Given the description of an element on the screen output the (x, y) to click on. 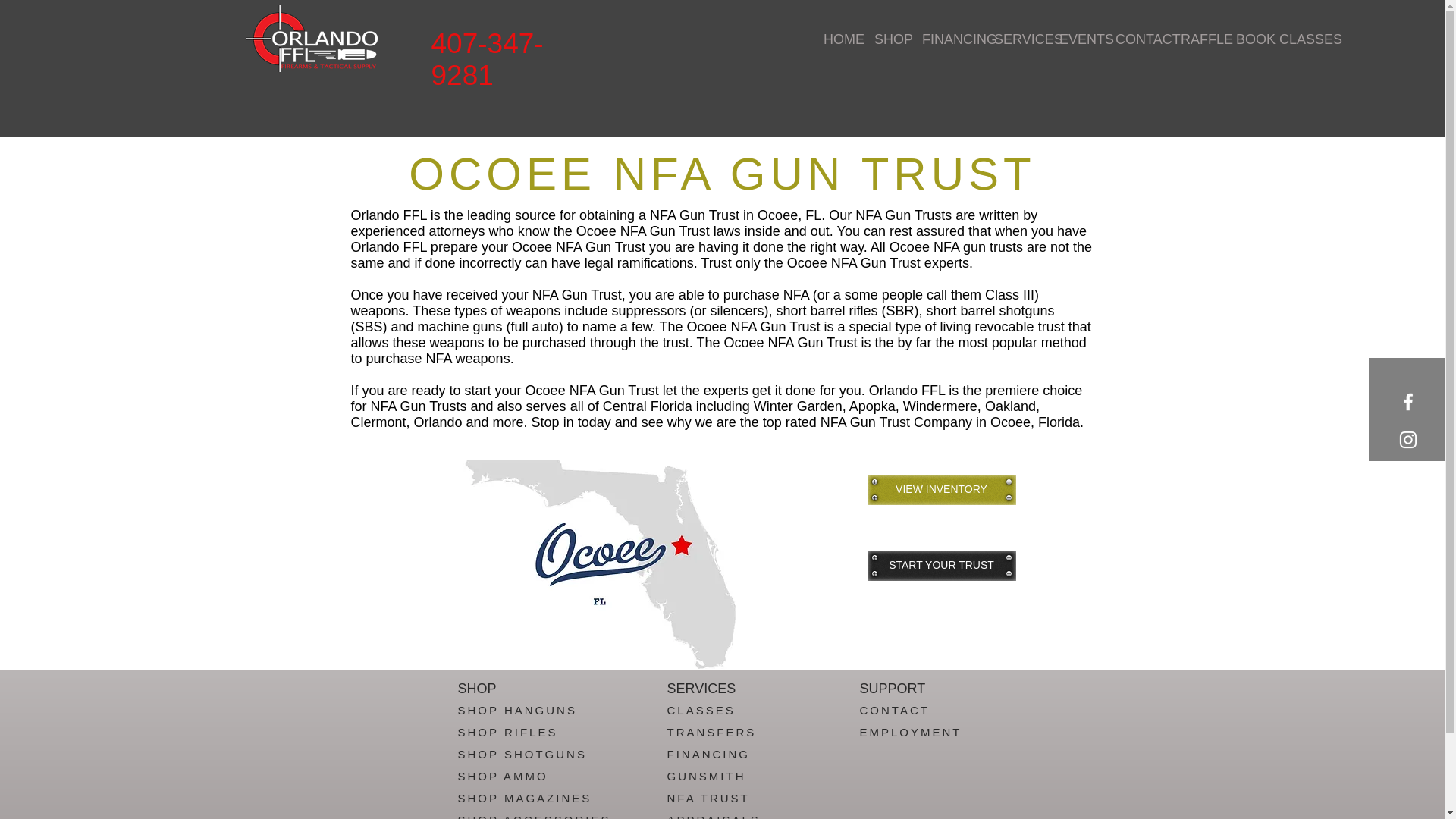
CONTACT (895, 709)
BOOK CLASSES (1269, 39)
SHOP RIFLES (507, 731)
CONTACT (1136, 39)
RAFFLE (1196, 39)
APPRAISALS (713, 816)
FINANCING (708, 753)
NFA TRUST (707, 797)
FINANCING (946, 39)
CLASSES (700, 709)
